Given the description of an element on the screen output the (x, y) to click on. 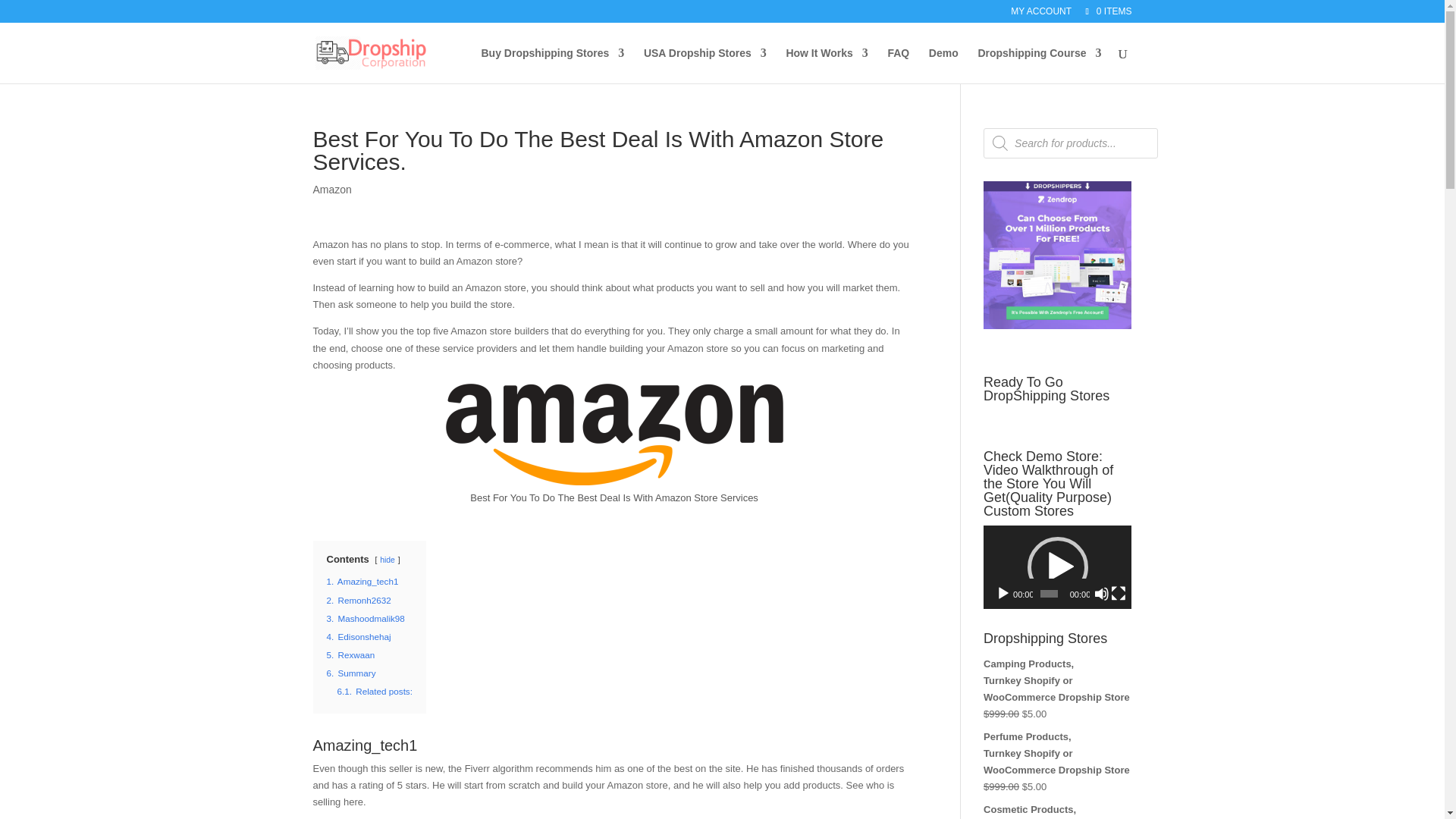
USA Dropship Stores (705, 65)
Fullscreen (1117, 593)
Dropshipping Course (1038, 65)
0 ITEMS (1107, 10)
How It Works (826, 65)
Play (1002, 593)
MY ACCOUNT (1040, 14)
Buy Dropshipping Stores (552, 65)
Mute (1101, 593)
